Given the description of an element on the screen output the (x, y) to click on. 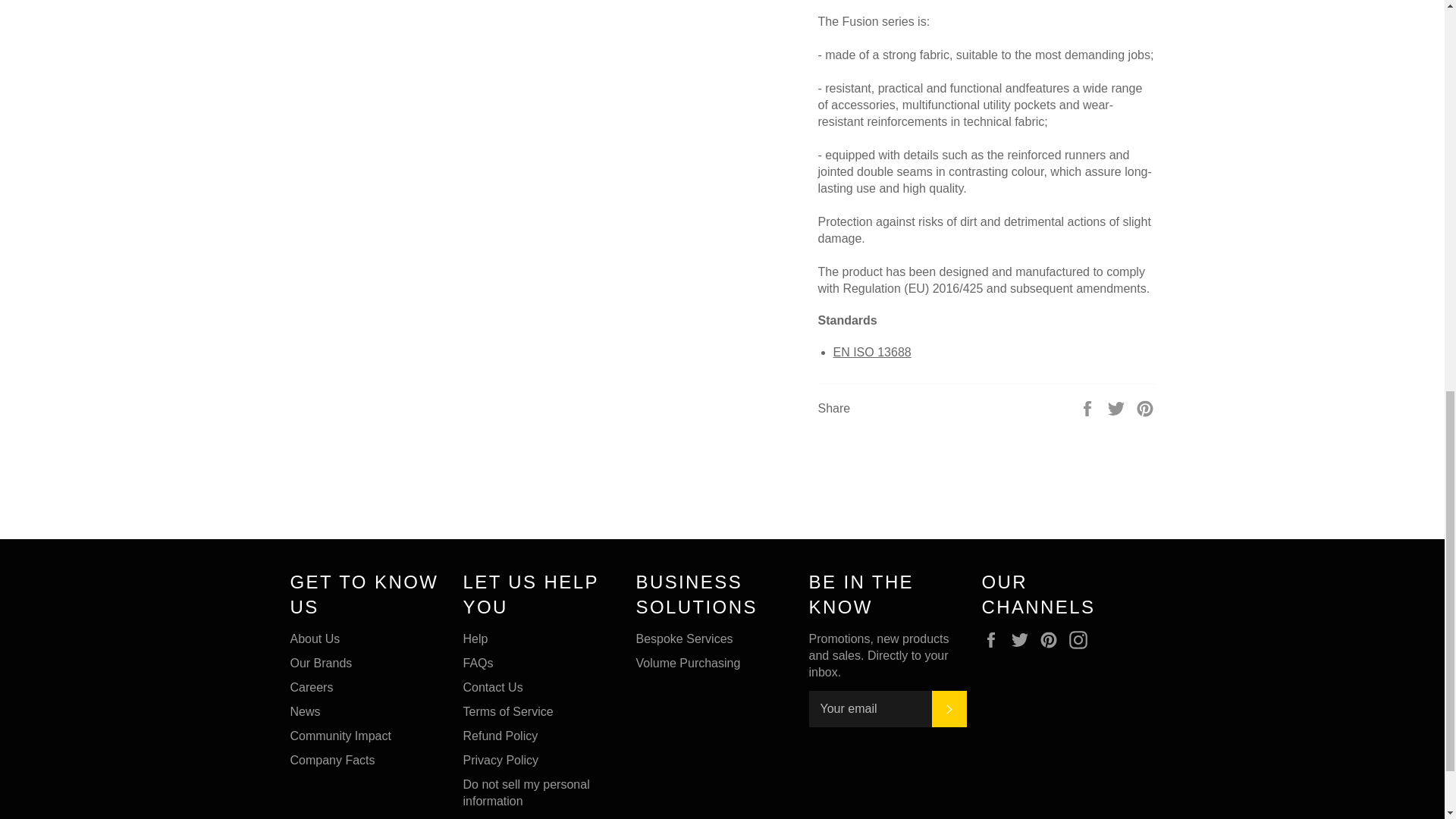
RussmillSafety.com on Twitter (1023, 639)
RussmillSafety.com on Pinterest (1052, 639)
Tweet on Twitter (1117, 407)
Pin on Pinterest (1144, 407)
Share on Facebook (1088, 407)
RussmillSafety.com on Facebook (994, 639)
RussmillSafety.com on Instagram (1081, 639)
